Given the description of an element on the screen output the (x, y) to click on. 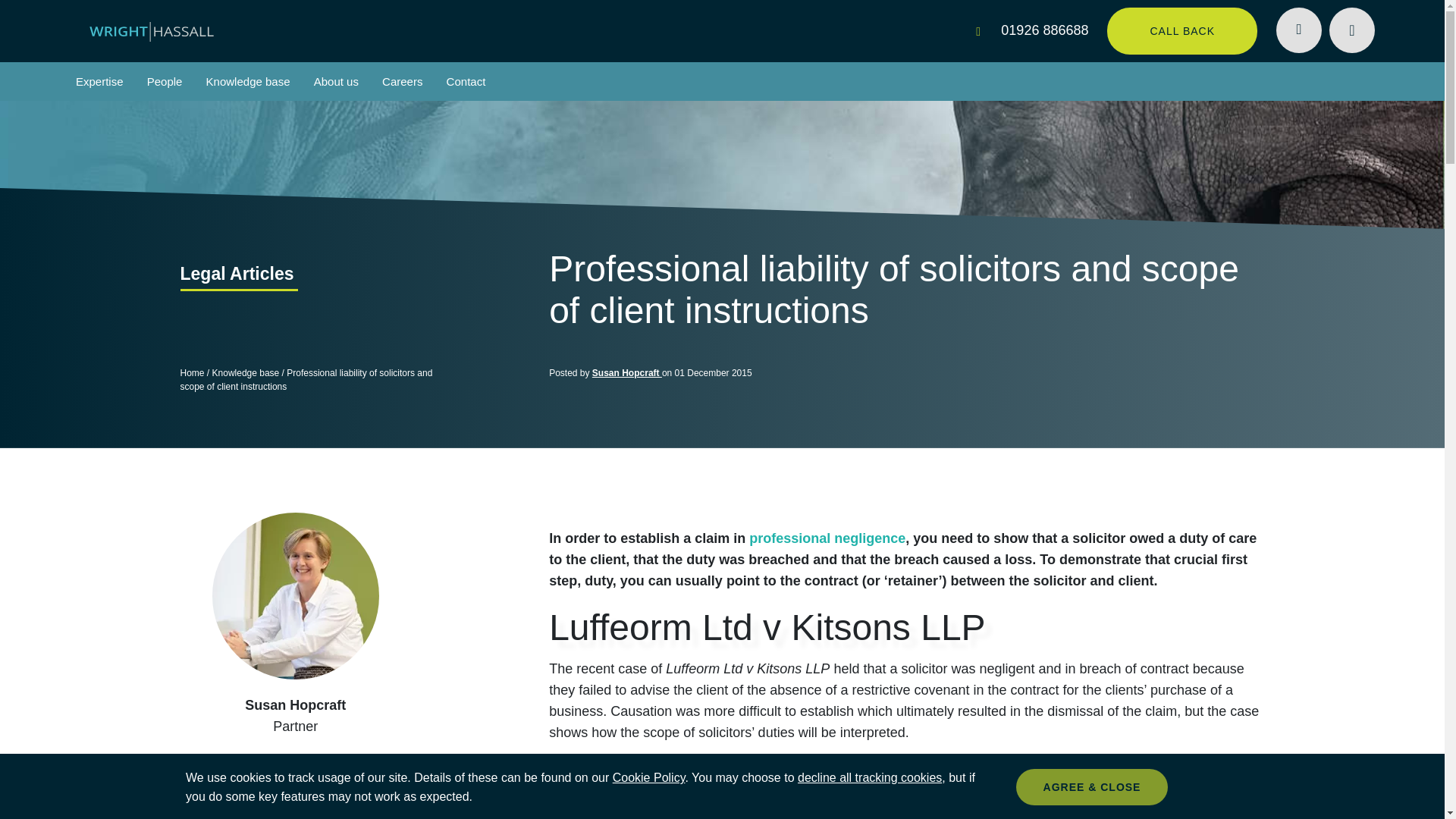
Expertise (99, 81)
Privacy policy (648, 777)
CALL BACK (1181, 30)
